Given the description of an element on the screen output the (x, y) to click on. 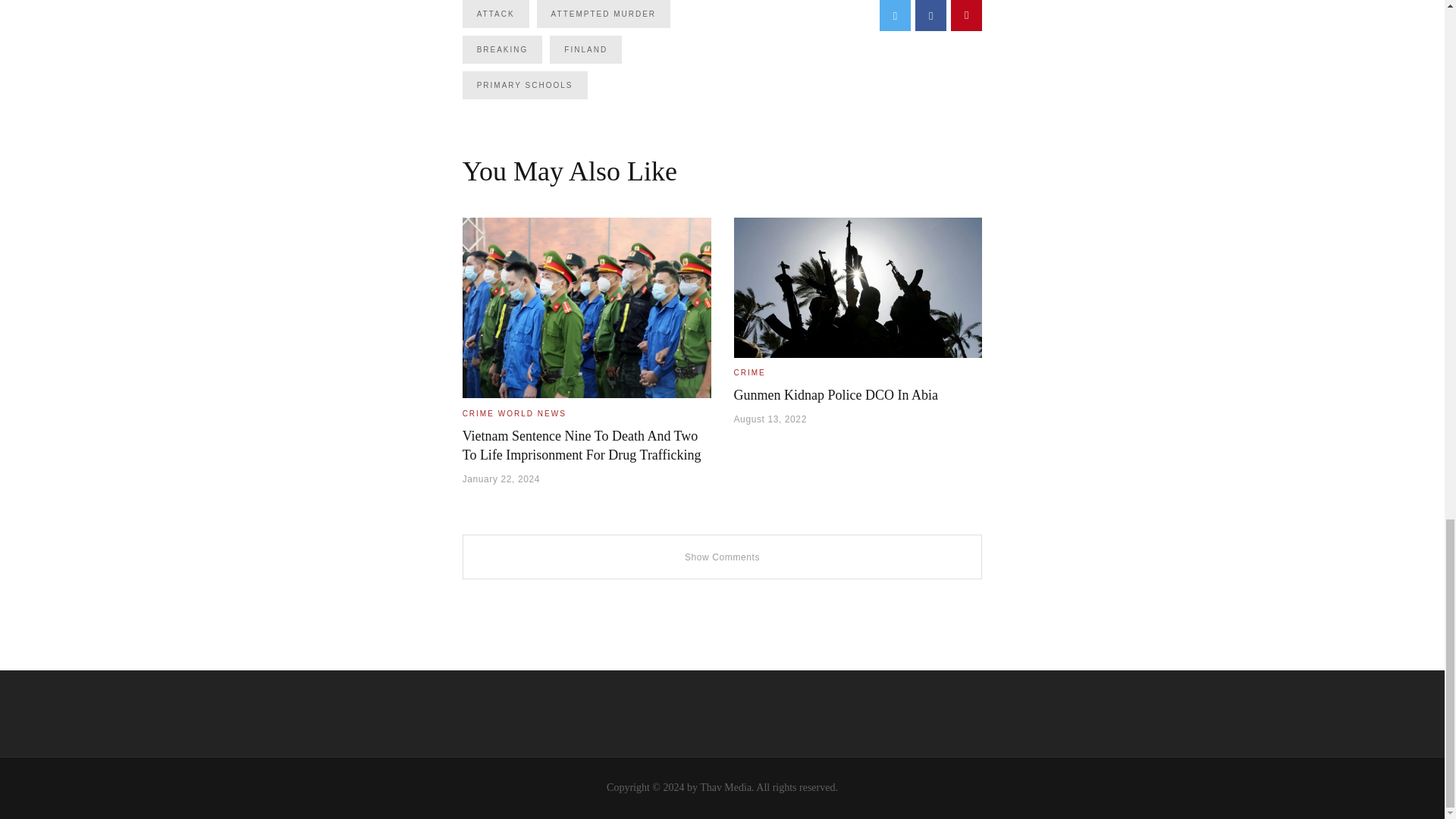
ATTACK (496, 13)
BREAKING (503, 49)
ATTEMPTED MURDER (603, 13)
